Given the description of an element on the screen output the (x, y) to click on. 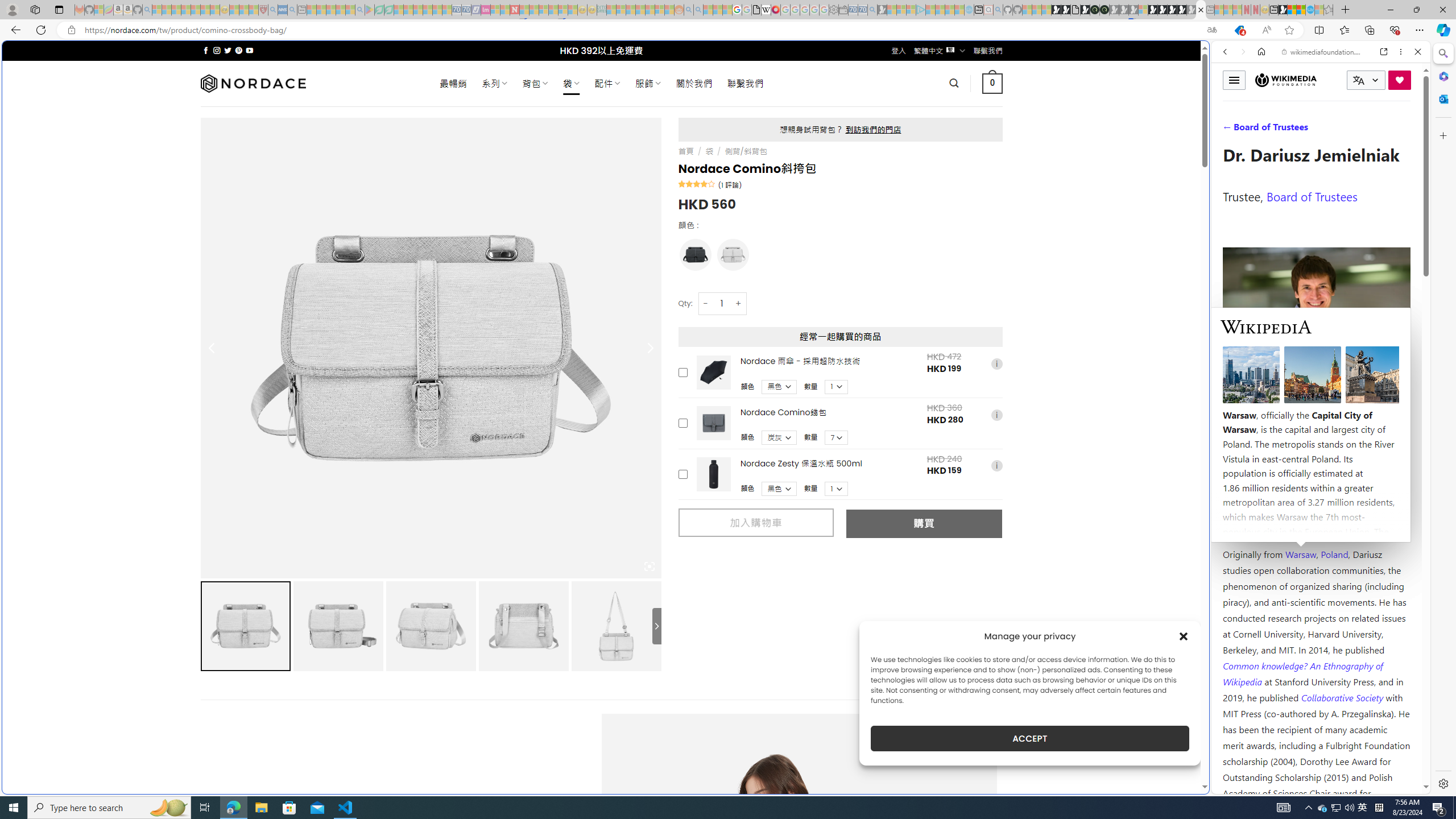
Class: i icon icon-translate language-switcher__icon (1358, 80)
Kozminski University (1316, 486)
Follow on Twitter (227, 50)
Board of Trustees (1311, 195)
